Given the description of an element on the screen output the (x, y) to click on. 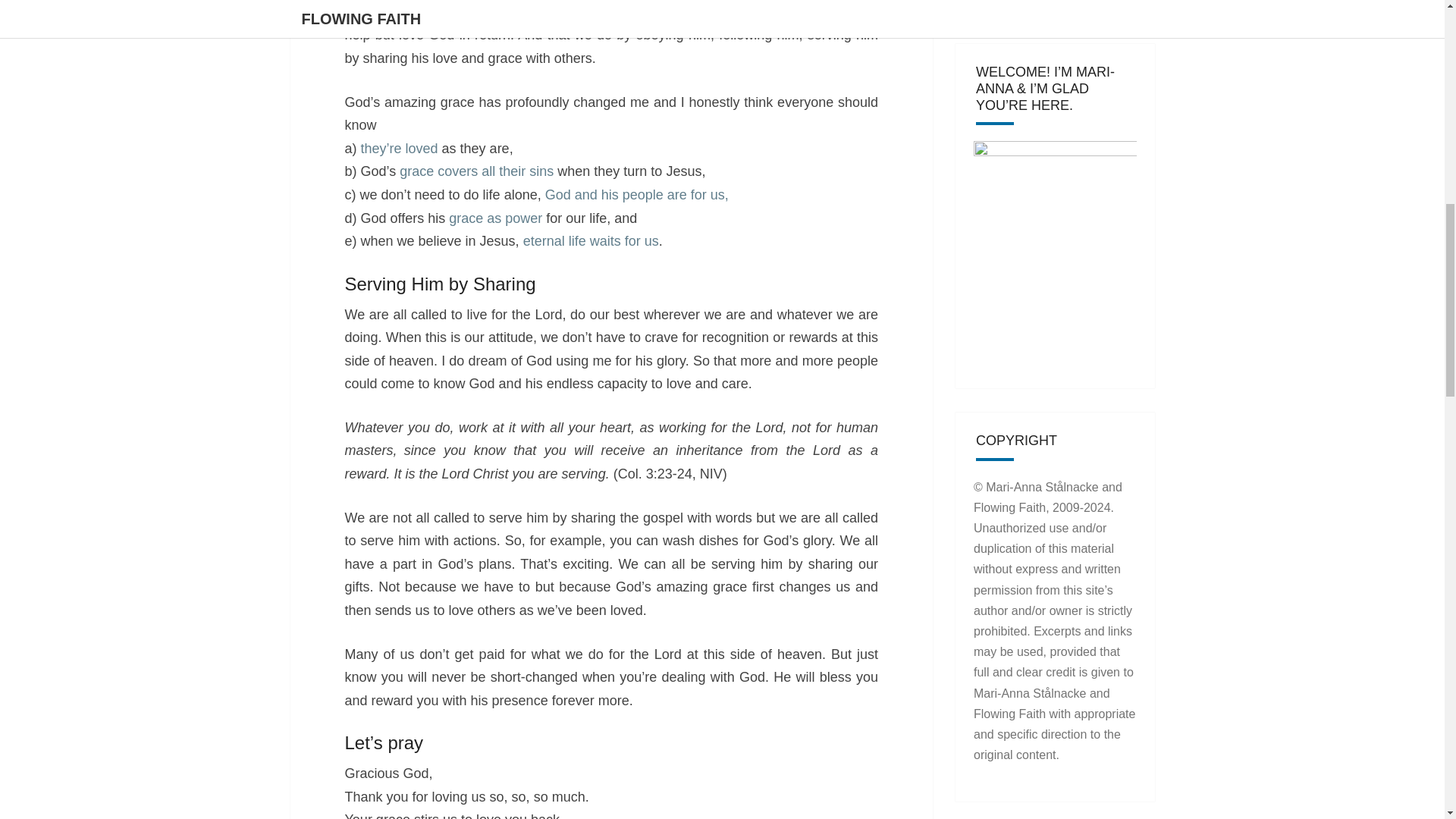
grace as power (494, 218)
God and his people are for us, (636, 194)
eternal life waits for us (590, 240)
grace covers all their sins (475, 171)
